Given the description of an element on the screen output the (x, y) to click on. 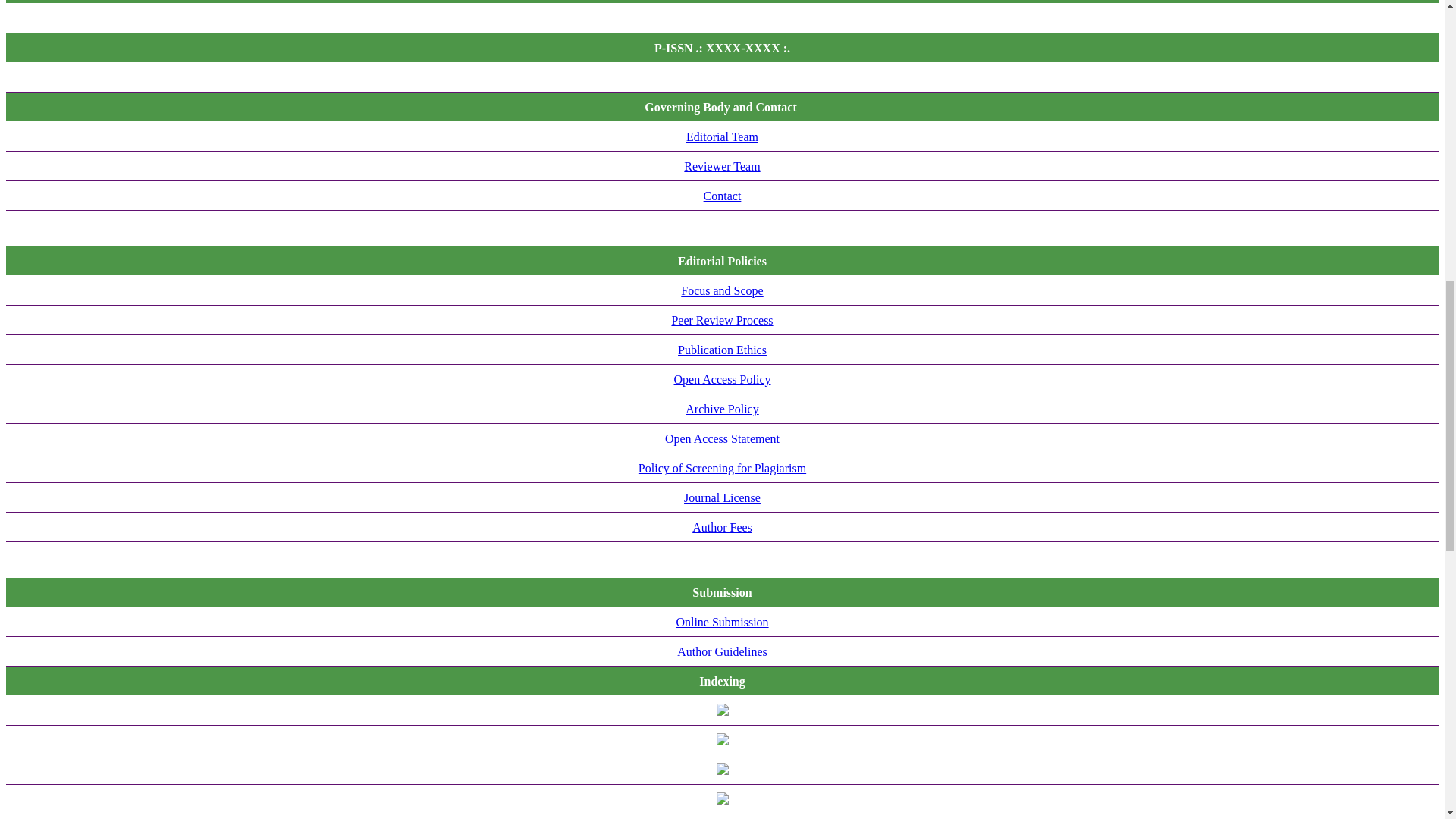
Author Guidelines (722, 651)
Publication Ethics (722, 349)
Author Fees (722, 526)
Peer Review Process (722, 319)
Online Submission (721, 621)
Policy of Screening for Plagiarism (722, 468)
Journal License (722, 497)
Focus and Scope (721, 290)
Open Access Statement (721, 438)
Reviewer Team (722, 165)
